Given the description of an element on the screen output the (x, y) to click on. 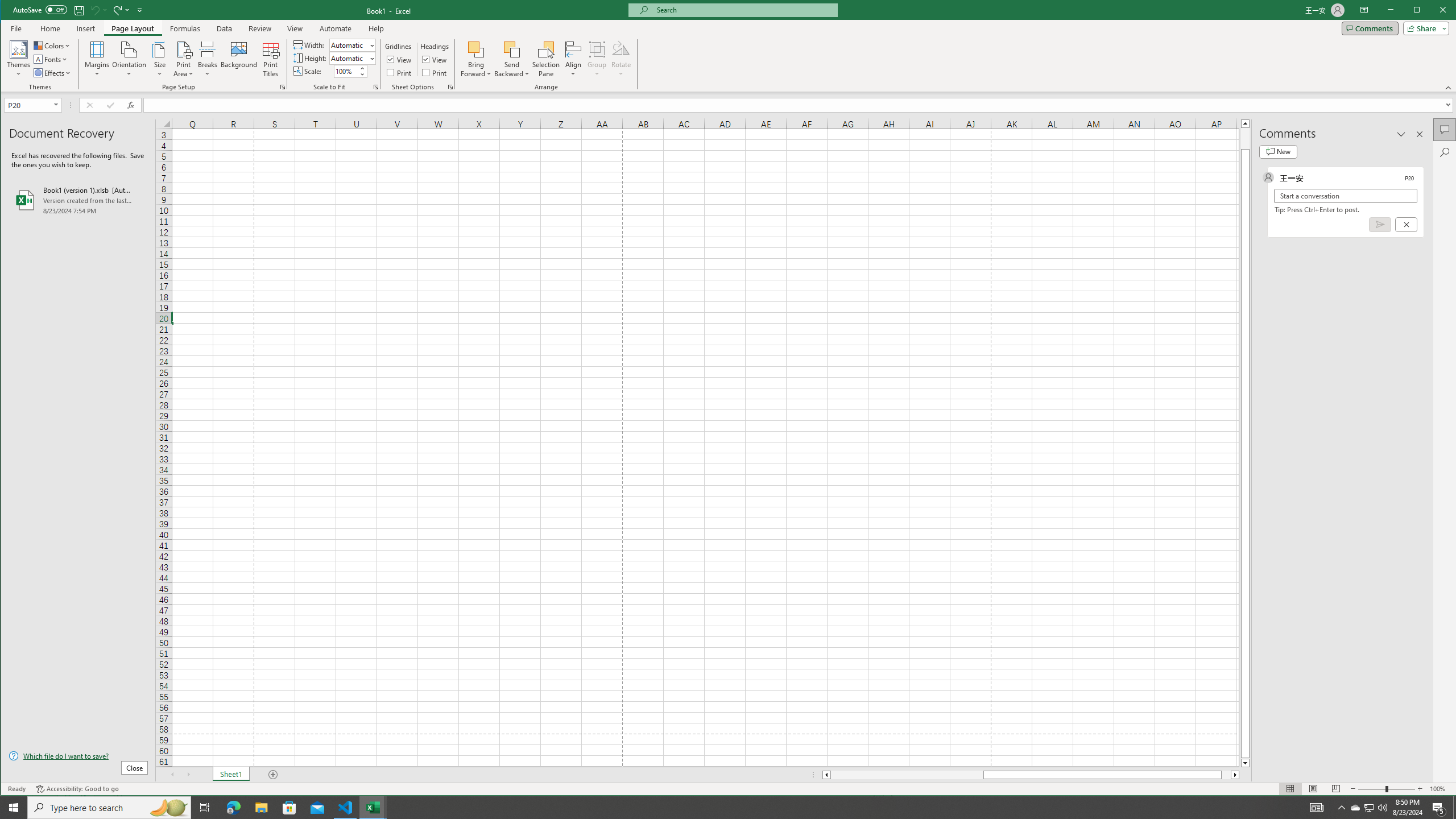
Microsoft Store (289, 807)
Sheet Options (449, 86)
Start (13, 807)
Send Backward (512, 59)
Start a conversation (1344, 195)
Effects (53, 72)
Scale (345, 71)
